Given the description of an element on the screen output the (x, y) to click on. 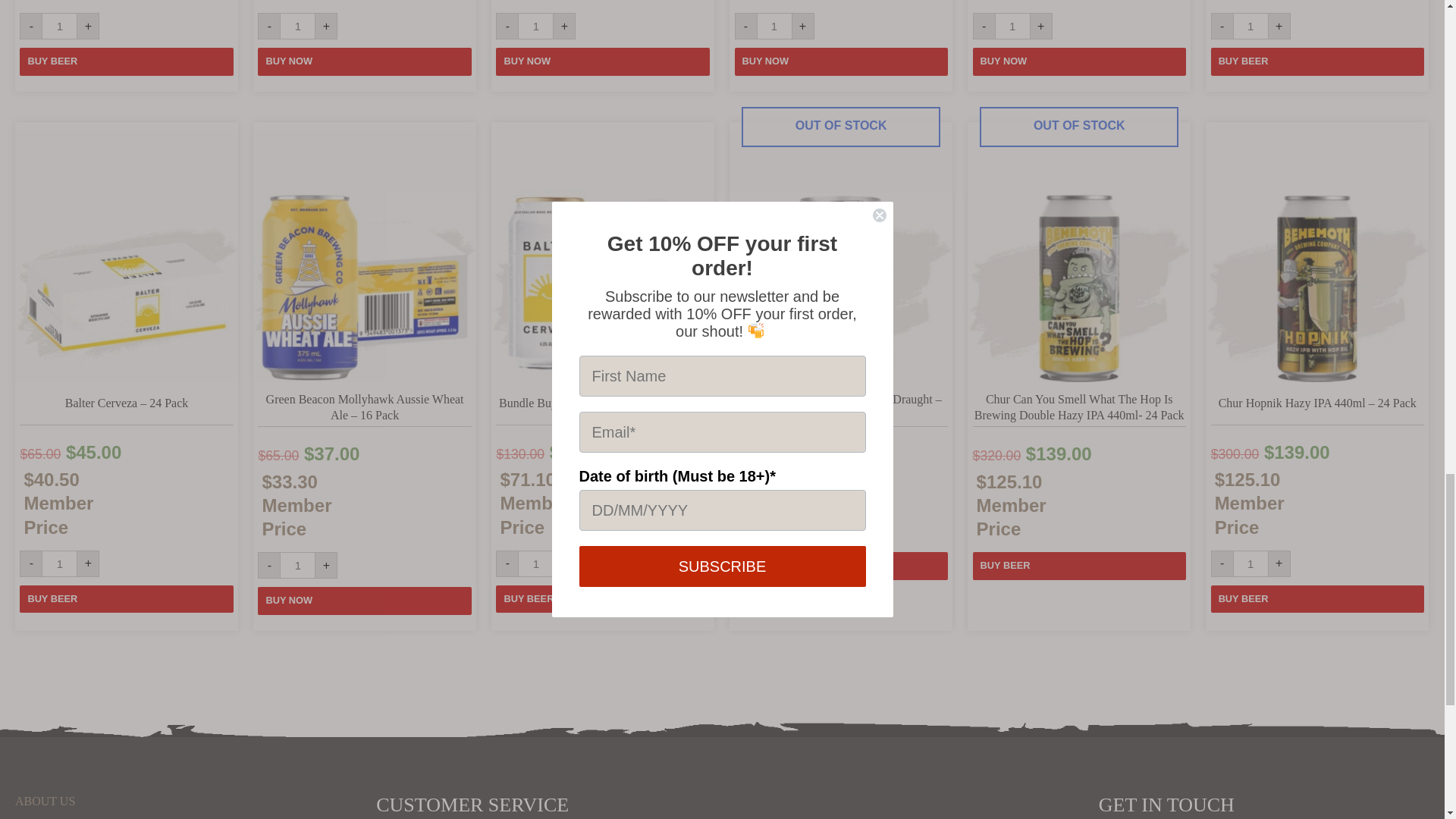
Qty (1250, 563)
Qty (297, 565)
1 (297, 26)
Qty (1012, 26)
Qty (774, 26)
Qty (535, 26)
Qty (535, 563)
1 (1250, 26)
1 (1012, 26)
Qty (59, 26)
1 (535, 563)
1 (774, 26)
Qty (297, 26)
1 (297, 565)
1 (1250, 563)
